Given the description of an element on the screen output the (x, y) to click on. 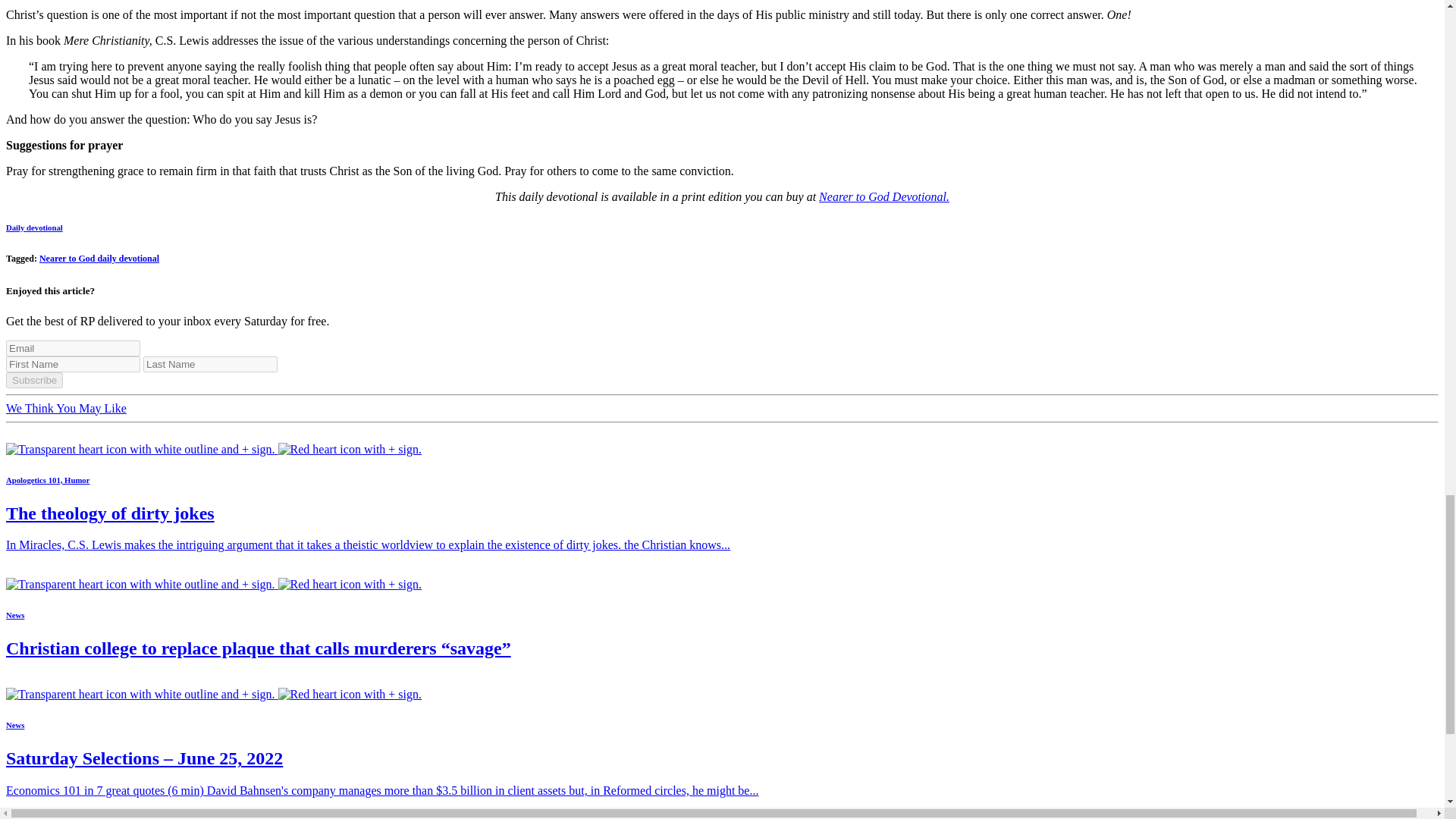
Nearer to God daily devotional (98, 258)
Nearer to God Devotional. (883, 196)
Subscribe (33, 380)
Subscribe to RP (213, 449)
Daily devotional (33, 226)
Subscribe to RP (213, 584)
Subscribe to RP (213, 694)
